Given the description of an element on the screen output the (x, y) to click on. 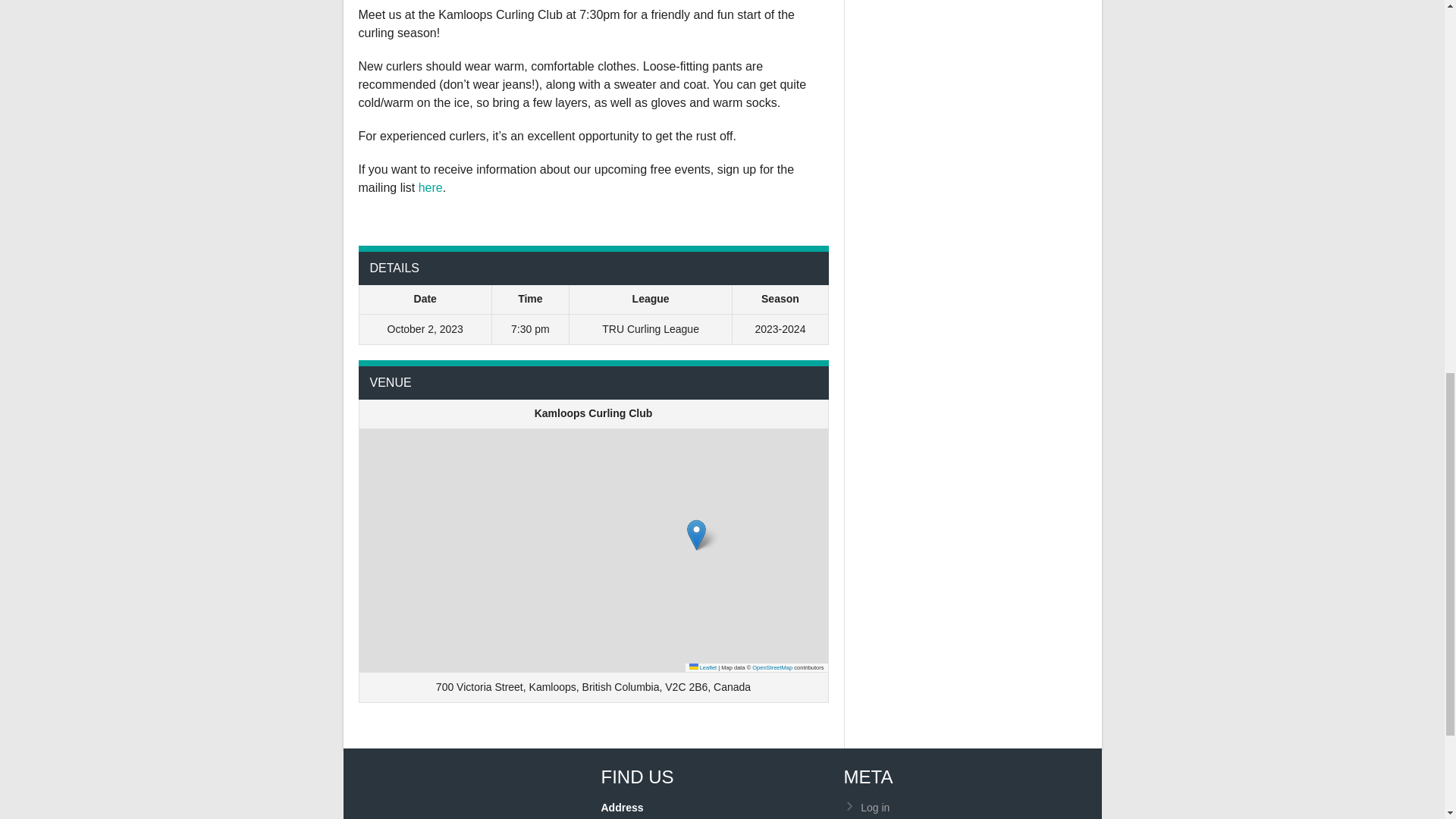
OpenStreetMap (772, 667)
Leaflet (702, 667)
here (430, 186)
A JavaScript library for interactive maps (702, 667)
Log in (874, 806)
